Given the description of an element on the screen output the (x, y) to click on. 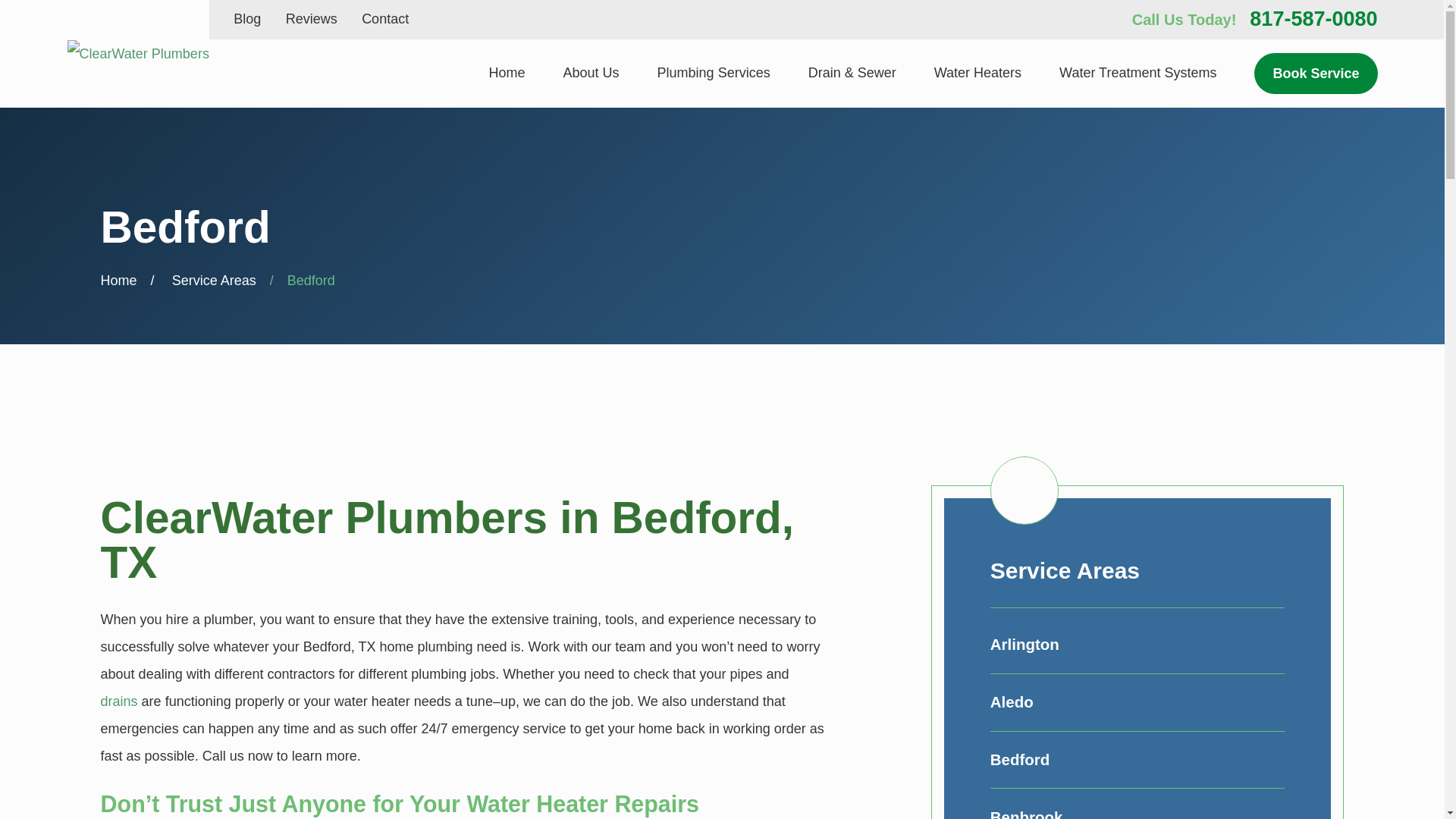
817-587-0080 (1313, 19)
Home (137, 53)
Blog (246, 18)
Go Home (118, 280)
Home (507, 73)
Plumbing Services (714, 73)
About Us (591, 73)
Contact (385, 18)
Reviews (311, 18)
